Given the description of an element on the screen output the (x, y) to click on. 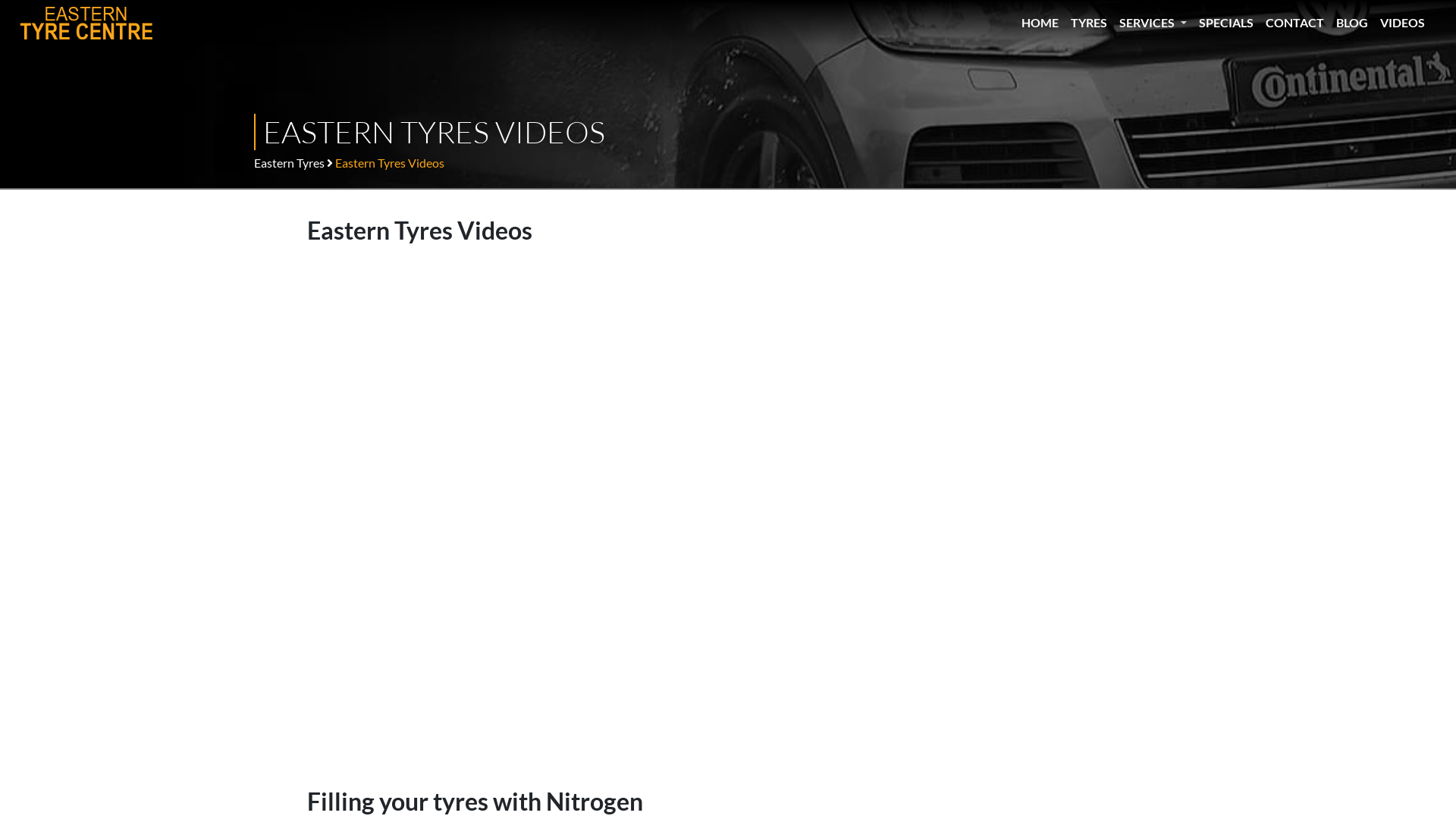
TYRES Element type: text (1094, 22)
CONTACT Element type: text (1300, 22)
VIDEOS Element type: text (1408, 22)
SPECIALS Element type: text (1231, 22)
Eastern Tyres Element type: text (289, 162)
SERVICES Element type: text (1158, 22)
Eastern Tyres -  Element type: hover (86, 22)
Eastern Tyres Element type: hover (86, 22)
Eastern Tyres Videos Element type: text (389, 162)
BLOG Element type: text (1358, 22)
HOME Element type: text (1045, 22)
